Given the description of an element on the screen output the (x, y) to click on. 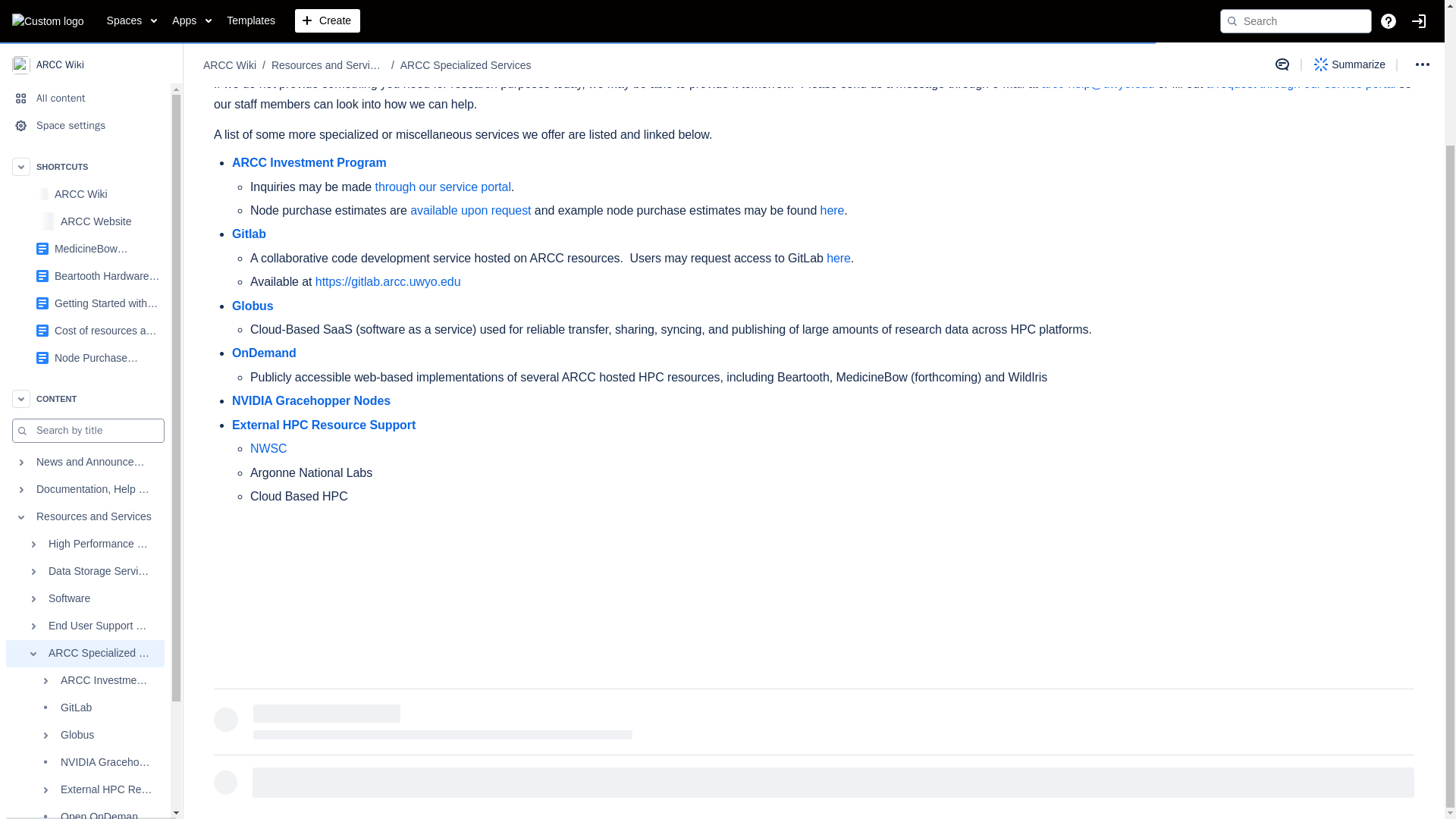
Documentation, Help and Policies (84, 323)
CONTENT (84, 232)
ARCC Website (111, 55)
Getting Started with ARCC (108, 137)
Node Purchase Estimates (84, 191)
Software (84, 432)
End User Support Services (84, 460)
Beartooth Hardware Summary Table (108, 110)
Resources and Services (84, 350)
Cost of resources and services (108, 164)
